Given the description of an element on the screen output the (x, y) to click on. 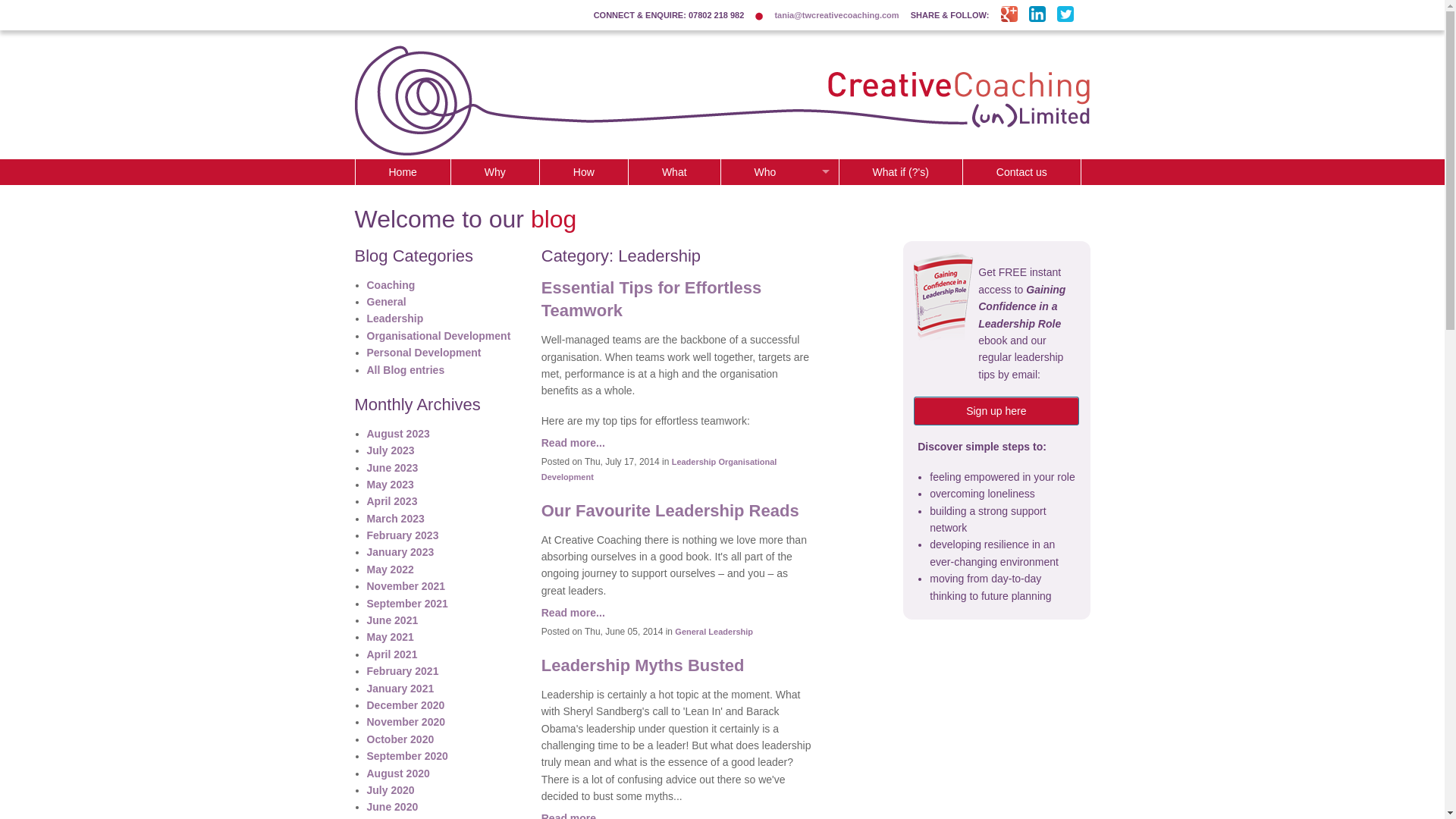
Personal Development (423, 352)
January 2023 (399, 551)
General (386, 301)
May 2022 (389, 569)
Why (494, 171)
How (583, 171)
July 2023 (390, 450)
Welcome to our blog (469, 218)
Organisational Development (438, 336)
February 2023 (402, 535)
